Given the description of an element on the screen output the (x, y) to click on. 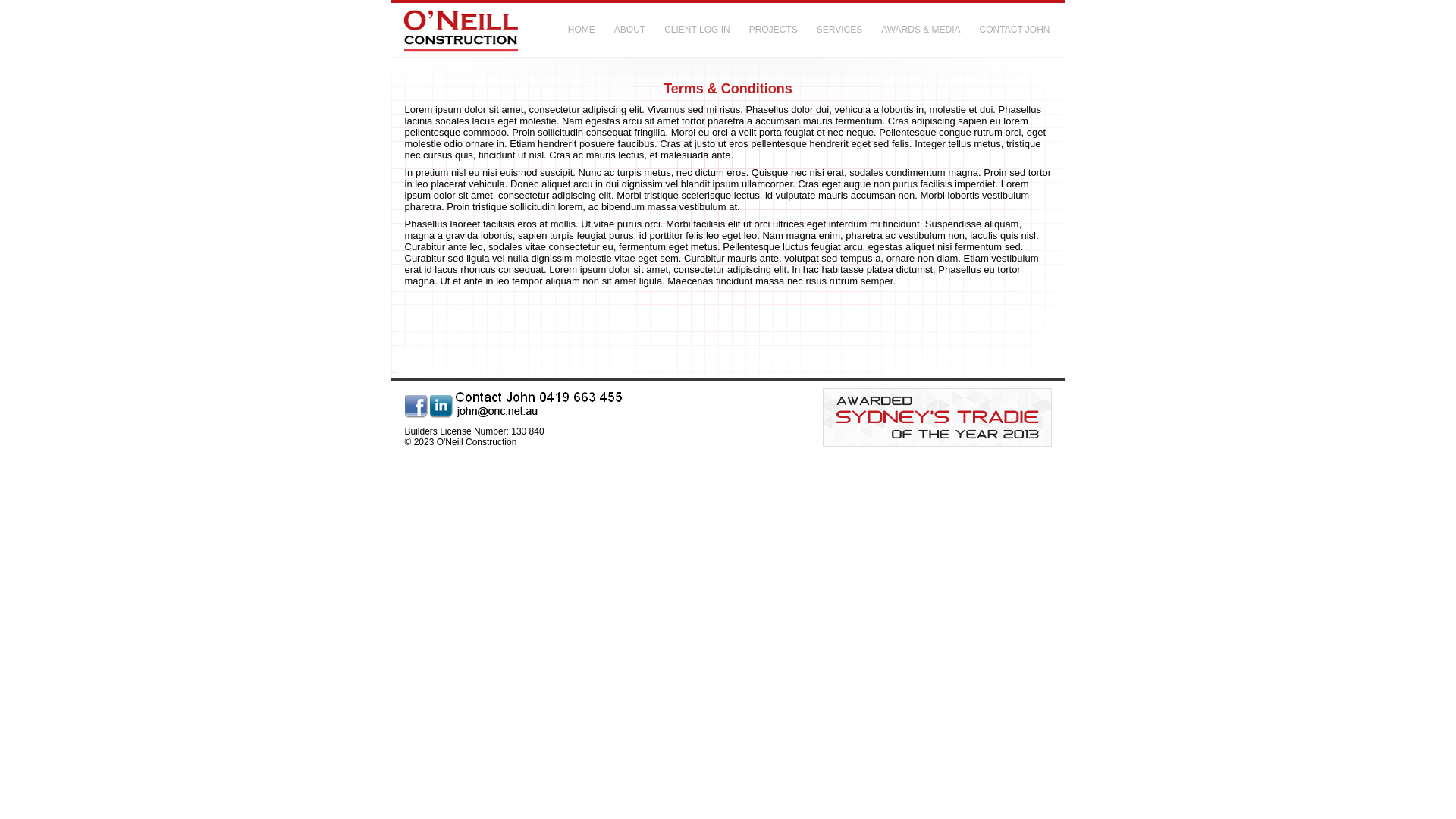
AWARDS & MEDIA Element type: text (926, 29)
PROJECTS Element type: text (779, 29)
HOME Element type: text (586, 29)
SERVICES Element type: text (844, 29)
CONTACT JOHN Element type: text (1020, 29)
CLIENT LOG IN Element type: text (702, 29)
ABOUT Element type: text (635, 29)
